Given the description of an element on the screen output the (x, y) to click on. 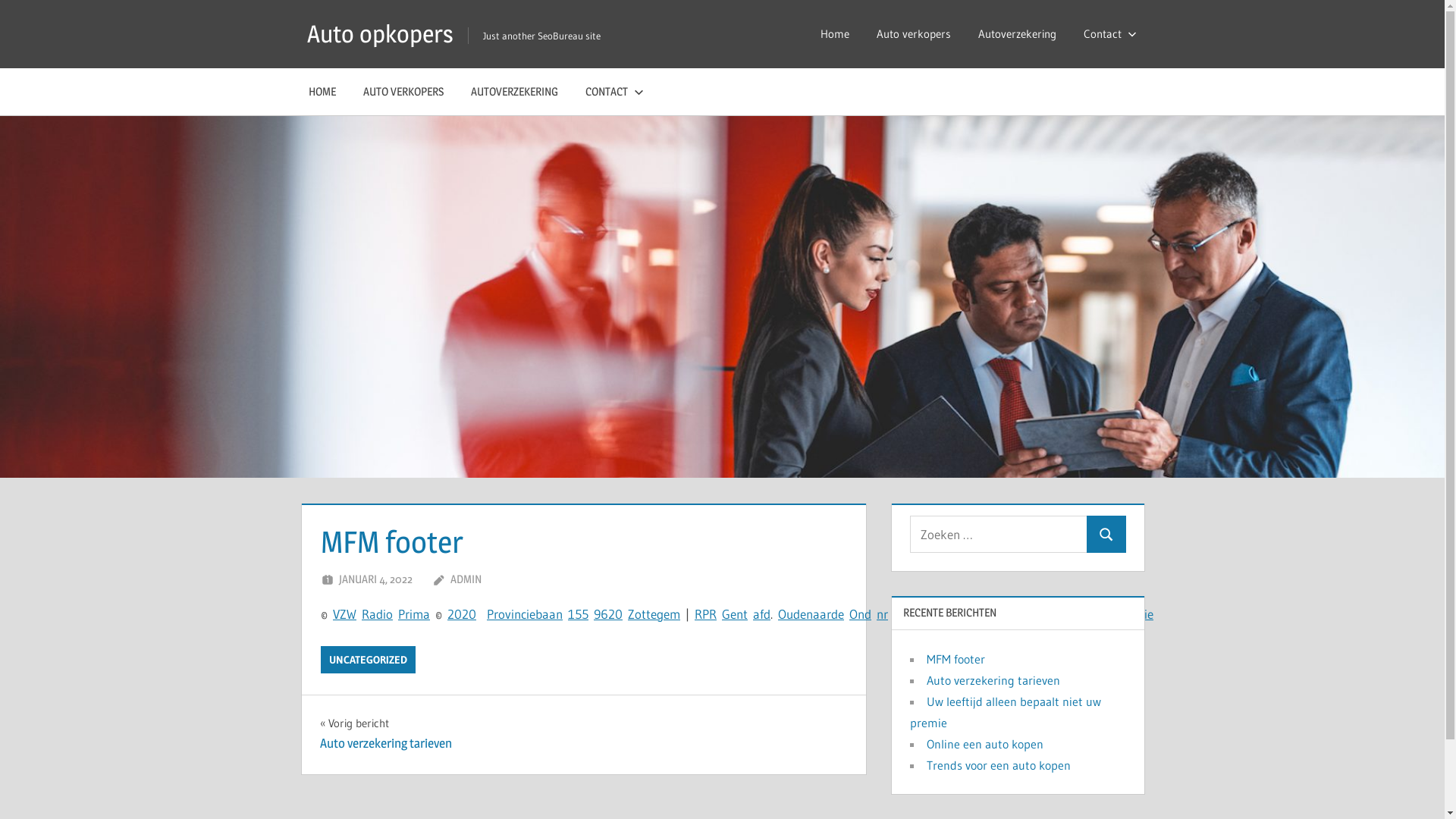
. Element type: text (945, 613)
d Element type: text (379, 613)
t Element type: text (648, 613)
Home Element type: text (834, 33)
o Element type: text (1073, 613)
o Element type: text (501, 613)
3 Element type: text (964, 613)
e Element type: text (1150, 613)
r Element type: text (495, 613)
R Element type: text (712, 613)
i Element type: text (1125, 613)
u Element type: text (789, 613)
n Element type: text (879, 613)
en Element type: text (806, 613)
r Element type: text (1018, 613)
0 Element type: text (618, 613)
o Element type: text (388, 613)
o Element type: text (1085, 613)
a Element type: text (426, 613)
a Element type: text (552, 613)
y Element type: text (1049, 613)
l Element type: text (1122, 613)
d Element type: text (766, 613)
AUTO VERKOPERS Element type: text (403, 91)
AUTOVERZEKERING Element type: text (514, 91)
t Element type: text (1141, 613)
UNCATEGORIZED Element type: text (367, 659)
3 Element type: text (917, 613)
o Element type: text (997, 613)
a Element type: text (756, 613)
r Element type: text (828, 613)
O Element type: text (853, 613)
t Element type: text (745, 613)
6 Element type: text (934, 613)
4 Element type: text (903, 613)
e Element type: text (733, 613)
n Element type: text (739, 613)
7 Element type: text (941, 613)
e Element type: text (1067, 613)
Autoverzekering Element type: text (1017, 33)
0 Element type: text (472, 613)
P Element type: text (489, 613)
ADMIN Element type: text (465, 578)
G Element type: text (725, 613)
R Element type: text (365, 613)
Auto opkopers Element type: text (380, 33)
b Element type: text (538, 613)
5 Element type: text (577, 613)
d Element type: text (867, 613)
i Element type: text (512, 613)
6 Element type: text (950, 613)
Trends voor een auto kopen Element type: text (998, 764)
a Element type: text (1135, 613)
b Element type: text (1042, 613)
R Element type: text (698, 613)
S Element type: text (1060, 613)
CONTACT Element type: text (611, 91)
1 Element type: text (570, 613)
m Element type: text (417, 613)
t Element type: text (1098, 613)
t Element type: text (643, 613)
i Element type: text (1102, 613)
f Element type: text (761, 613)
Auto verzekering tarieven Element type: text (993, 679)
Zoeken naar: Element type: hover (998, 533)
a Element type: text (545, 613)
a Element type: text (1117, 613)
i Element type: text (1145, 613)
w Element type: text (1005, 613)
e Element type: text (1013, 613)
Z Element type: text (630, 613)
9 Element type: text (596, 613)
W Element type: text (351, 613)
ri Element type: text (408, 613)
m Element type: text (1109, 613)
Auto verkopers Element type: text (913, 33)
Uw leeftijd alleen bepaalt niet uw premie Element type: text (1005, 711)
e Element type: text (1024, 613)
a Element type: text (822, 613)
n Element type: text (517, 613)
2 Element type: text (910, 613)
Online een auto kopen Element type: text (984, 743)
e Element type: text (653, 613)
2 Element type: text (450, 613)
e Element type: text (532, 613)
c Element type: text (523, 613)
s Element type: text (1129, 613)
v Element type: text (508, 613)
g Element type: text (659, 613)
. Element type: text (922, 613)
P Element type: text (401, 613)
HOME Element type: text (321, 91)
Contact Element type: text (1106, 33)
Zoeken Element type: text (1105, 533)
o Element type: text (637, 613)
Z Element type: text (342, 613)
e Element type: text (840, 613)
2 Element type: text (611, 613)
a Element type: text (372, 613)
p Element type: text (1092, 613)
5 Element type: text (584, 613)
2 Element type: text (957, 613)
6 Element type: text (604, 613)
d Element type: text (1030, 613)
n Element type: text (558, 613)
JANUARI 4, 2022 Element type: text (375, 578)
a Element type: text (815, 613)
0 Element type: text (457, 613)
i Element type: text (383, 613)
Vorig bericht
Auto verzekering tarieven Element type: text (385, 733)
P Element type: text (991, 613)
m Element type: text (674, 613)
P Element type: text (705, 613)
n Element type: text (860, 613)
2 Element type: text (464, 613)
0 Element type: text (896, 613)
V Element type: text (335, 613)
5 Element type: text (926, 613)
d Element type: text (834, 613)
i Element type: text (527, 613)
O Element type: text (782, 613)
r Element type: text (885, 613)
MFM footer Element type: text (955, 658)
e Element type: text (666, 613)
d Element type: text (796, 613)
